Given the description of an element on the screen output the (x, y) to click on. 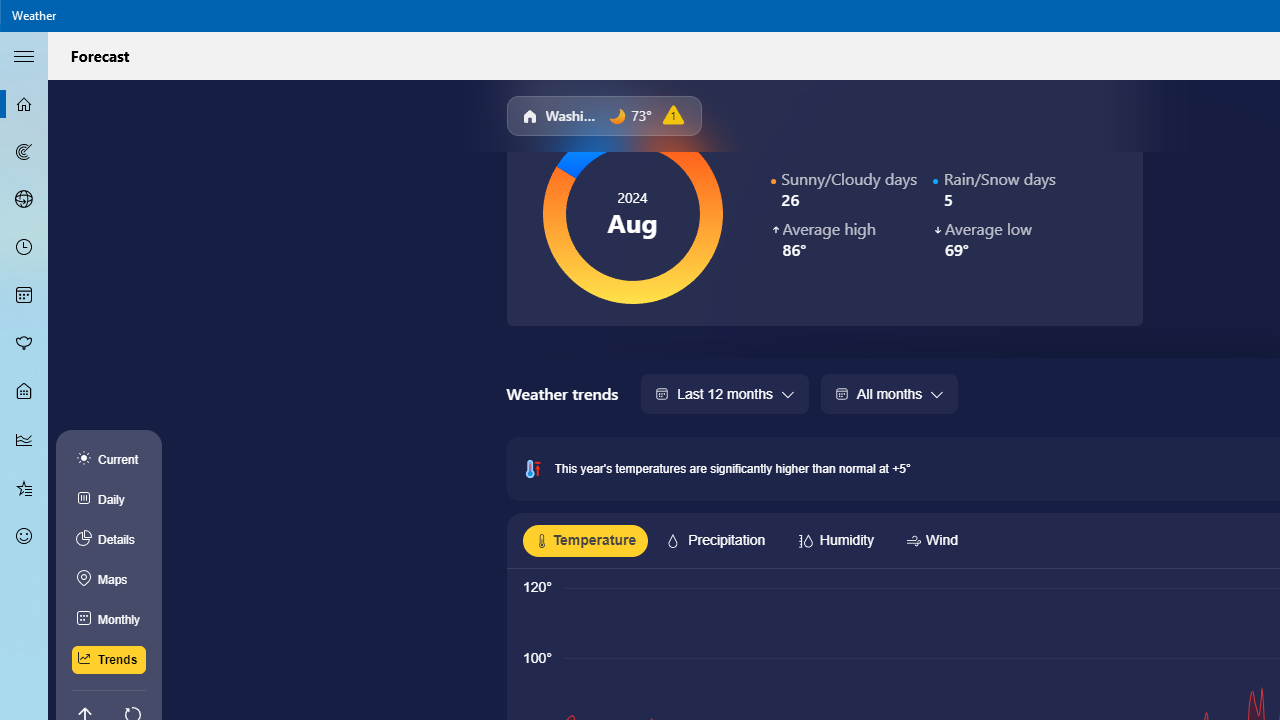
Favorites - Not Selected (24, 487)
Maps - Not Selected (24, 151)
Pollen - Not Selected (24, 343)
Send Feedback - Not Selected (24, 535)
Life - Not Selected (24, 391)
Collapse Navigation (24, 55)
Hourly Forecast - Not Selected (24, 247)
Hourly Forecast - Not Selected (24, 247)
Historical Weather - Not Selected (24, 439)
Historical Weather - Not Selected (24, 439)
Send Feedback - Not Selected (24, 535)
Pollen - Not Selected (24, 343)
Monthly Forecast - Not Selected (24, 295)
3D Maps - Not Selected (24, 199)
Favorites - Not Selected (24, 487)
